Given the description of an element on the screen output the (x, y) to click on. 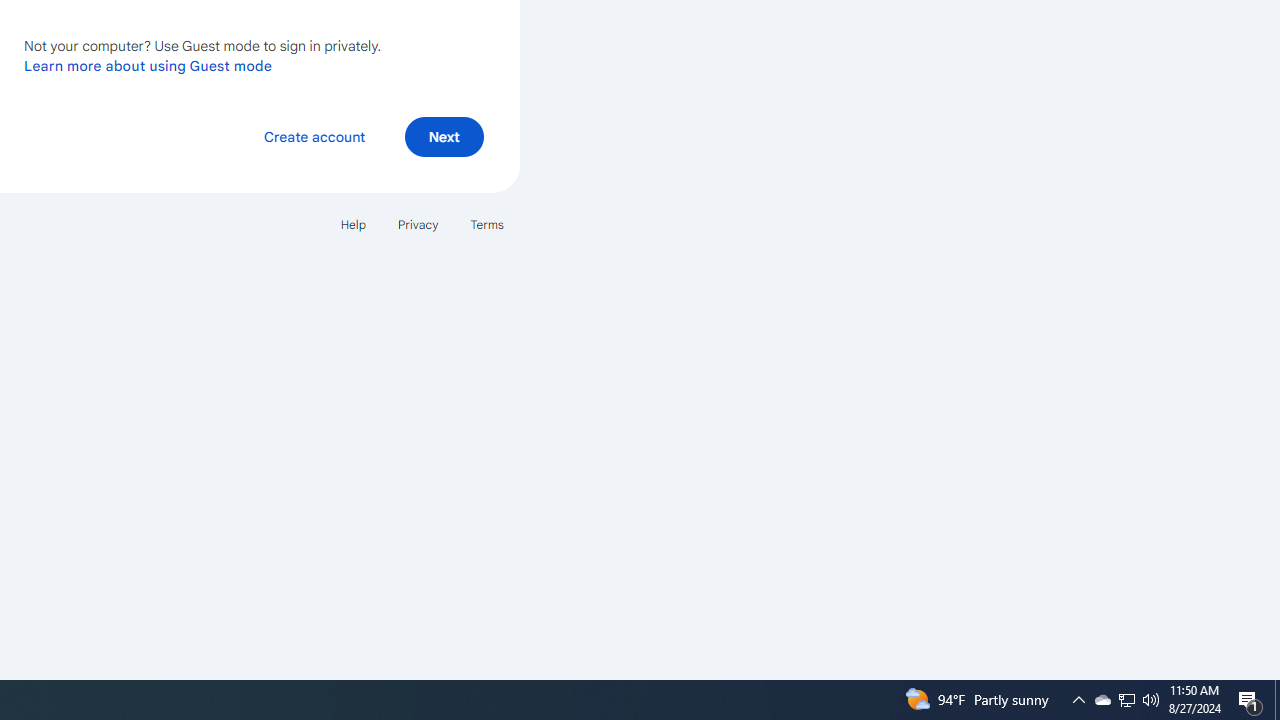
Next (443, 135)
Create account (314, 135)
Learn more about using Guest mode (148, 65)
